Given the description of an element on the screen output the (x, y) to click on. 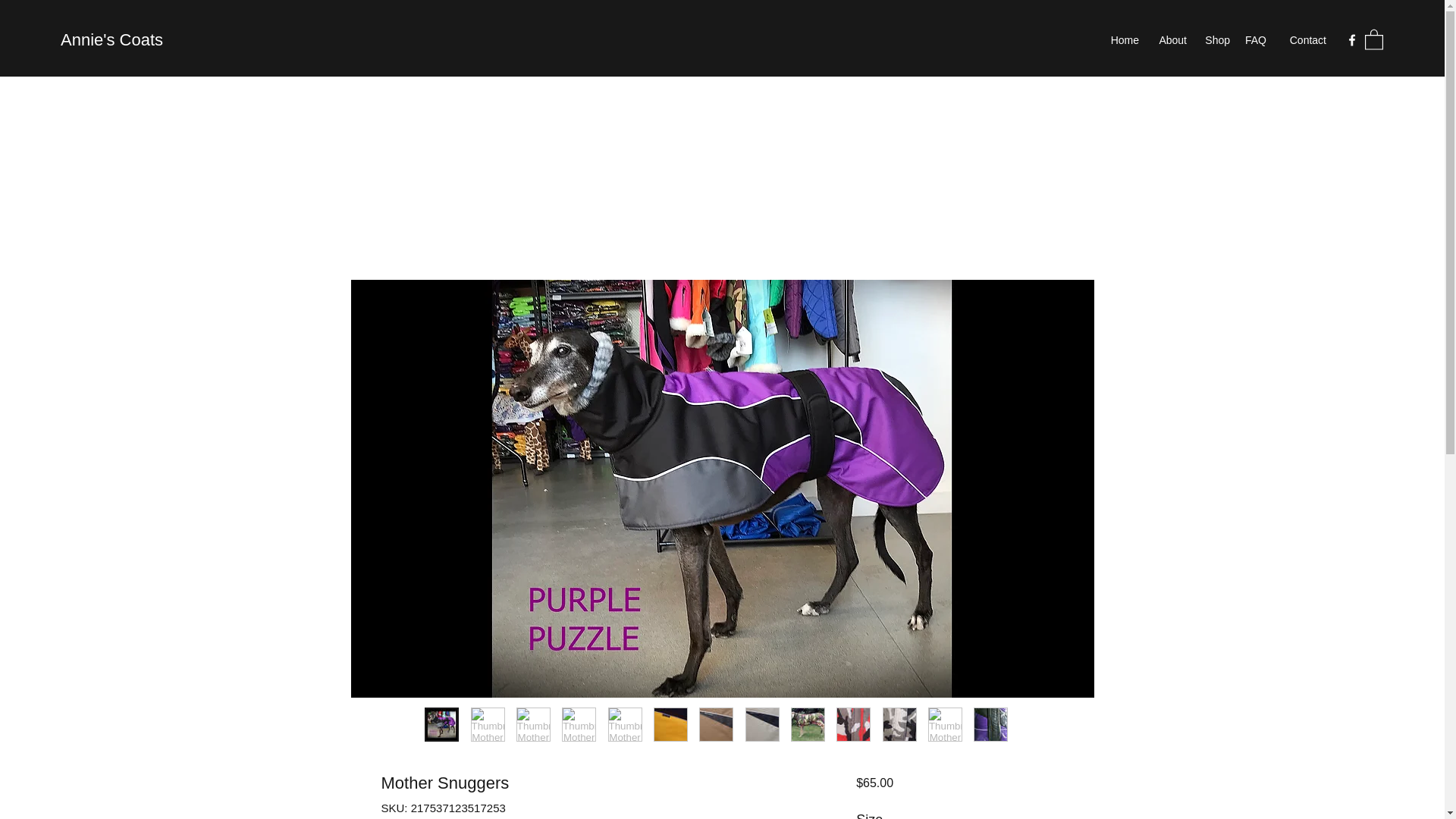
Annie's Coats (112, 39)
Contact (1303, 39)
Home (1122, 39)
FAQ (1255, 39)
Shop (1215, 39)
About (1170, 39)
